Given the description of an element on the screen output the (x, y) to click on. 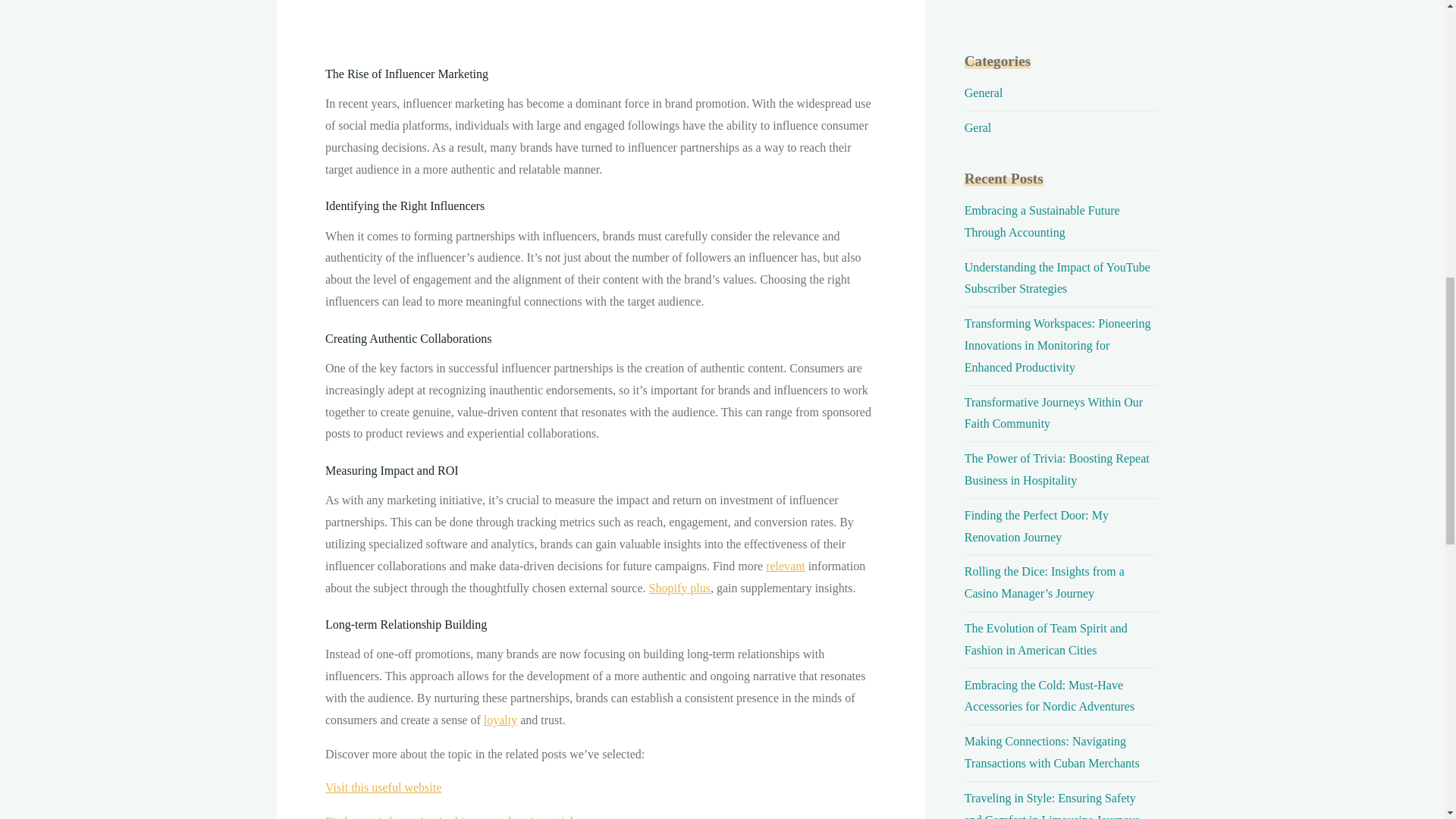
The Power of Trivia: Boosting Repeat Business in Hospitality (1056, 469)
Geral (977, 127)
Visit this useful website (382, 787)
Finding the Perfect Door: My Renovation Journey (1035, 525)
General (983, 92)
The Evolution of Team Spirit and Fashion in American Cities (1044, 638)
Transformative Journeys Within Our Faith Community (1052, 412)
